Given the description of an element on the screen output the (x, y) to click on. 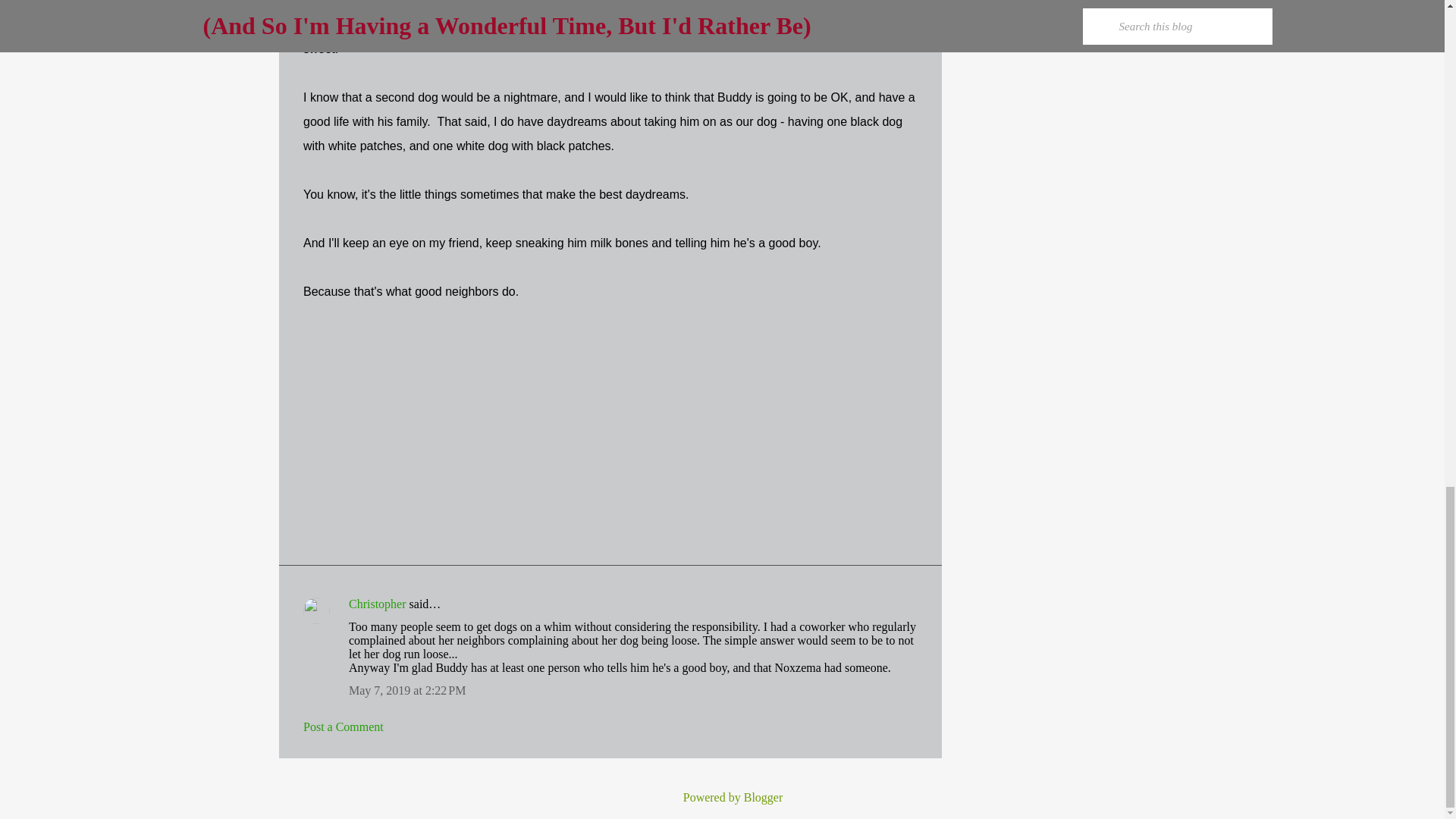
Post a Comment (343, 726)
Christopher (377, 603)
comment permalink (407, 689)
Powered by Blogger (722, 797)
